Given the description of an element on the screen output the (x, y) to click on. 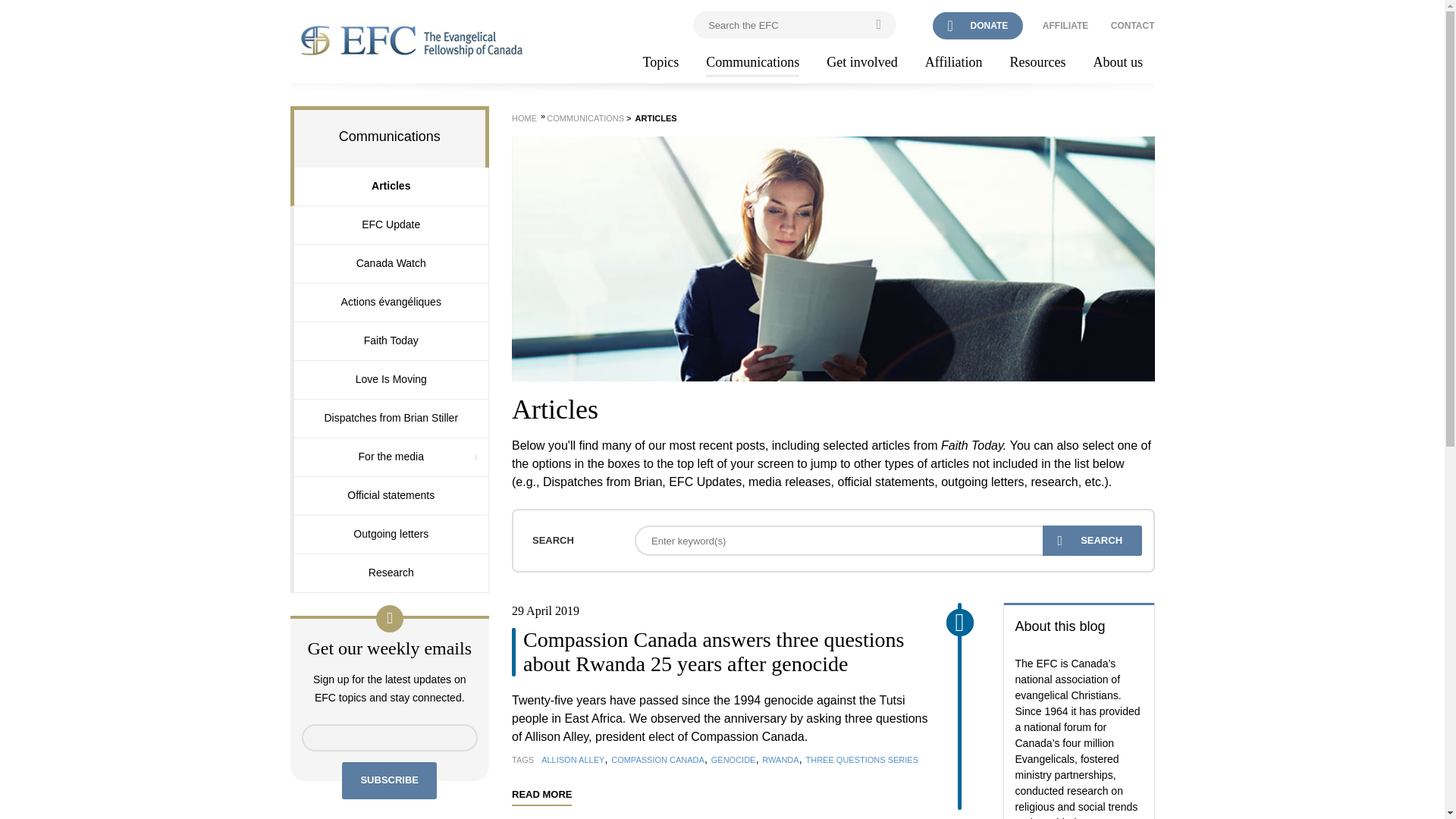
Topics (660, 62)
Search (1091, 540)
Subscribe (389, 780)
